Given the description of an element on the screen output the (x, y) to click on. 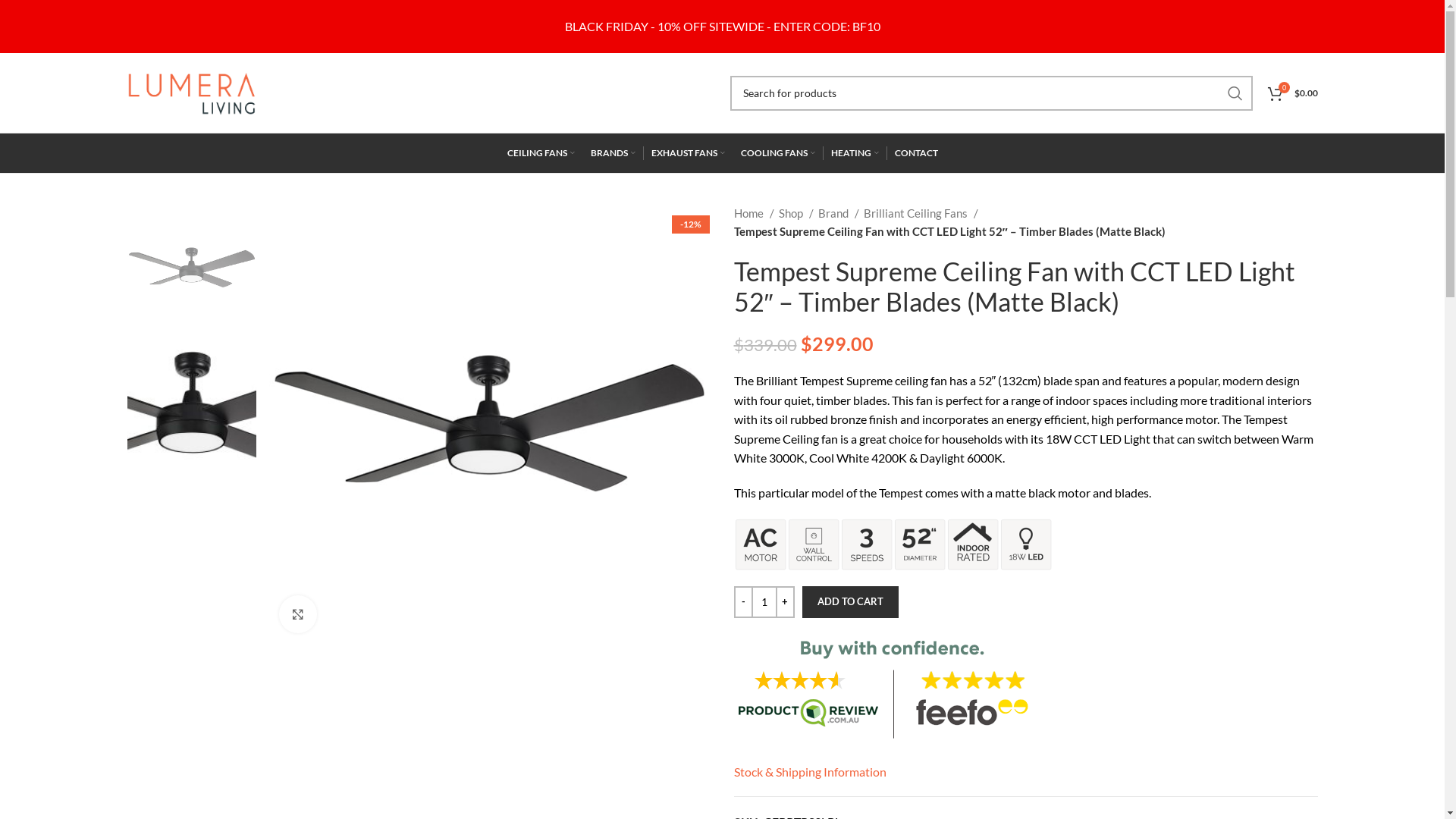
SEARCH Element type: text (1234, 92)
BLACK FRIDAY - 10% OFF SITEWIDE - ENTER CODE: BF10 Element type: text (721, 25)
Brand Element type: text (837, 212)
COOLING FANS Element type: text (777, 153)
Search for products Element type: hover (990, 92)
BRANDS Element type: text (611, 153)
HEATING Element type: text (854, 153)
CONTACT Element type: text (916, 153)
Stock & Shipping Information Element type: text (810, 771)
Brilliant Ceiling Fans Element type: text (919, 212)
EXHAUST FANS Element type: text (687, 153)
Home Element type: text (754, 212)
0
$0.00 Element type: text (1292, 92)
tempest-supreme-cct-led-black Element type: hover (488, 423)
CEILING FANS Element type: text (540, 153)
ADD TO CART Element type: text (850, 602)
Shop Element type: text (795, 212)
